Given the description of an element on the screen output the (x, y) to click on. 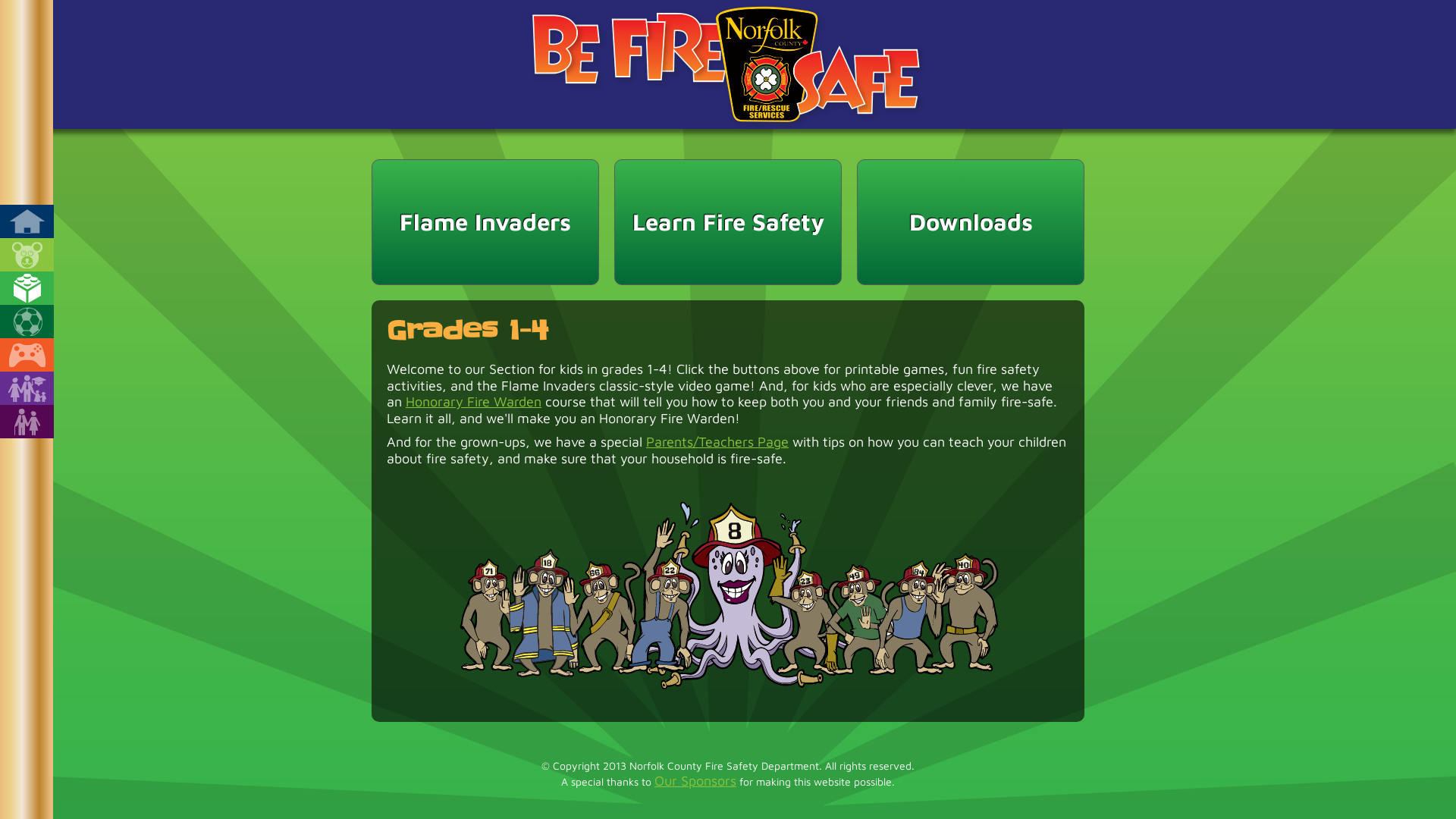
Our Sponsors Element type: text (695, 780)
Downloads Element type: text (970, 222)
Flame Invaders Element type: text (485, 222)
Parents/Teachers Page Element type: text (717, 441)
Learn Fire Safety Element type: text (727, 222)
Honorary Fire Warden Element type: text (473, 401)
